Given the description of an element on the screen output the (x, y) to click on. 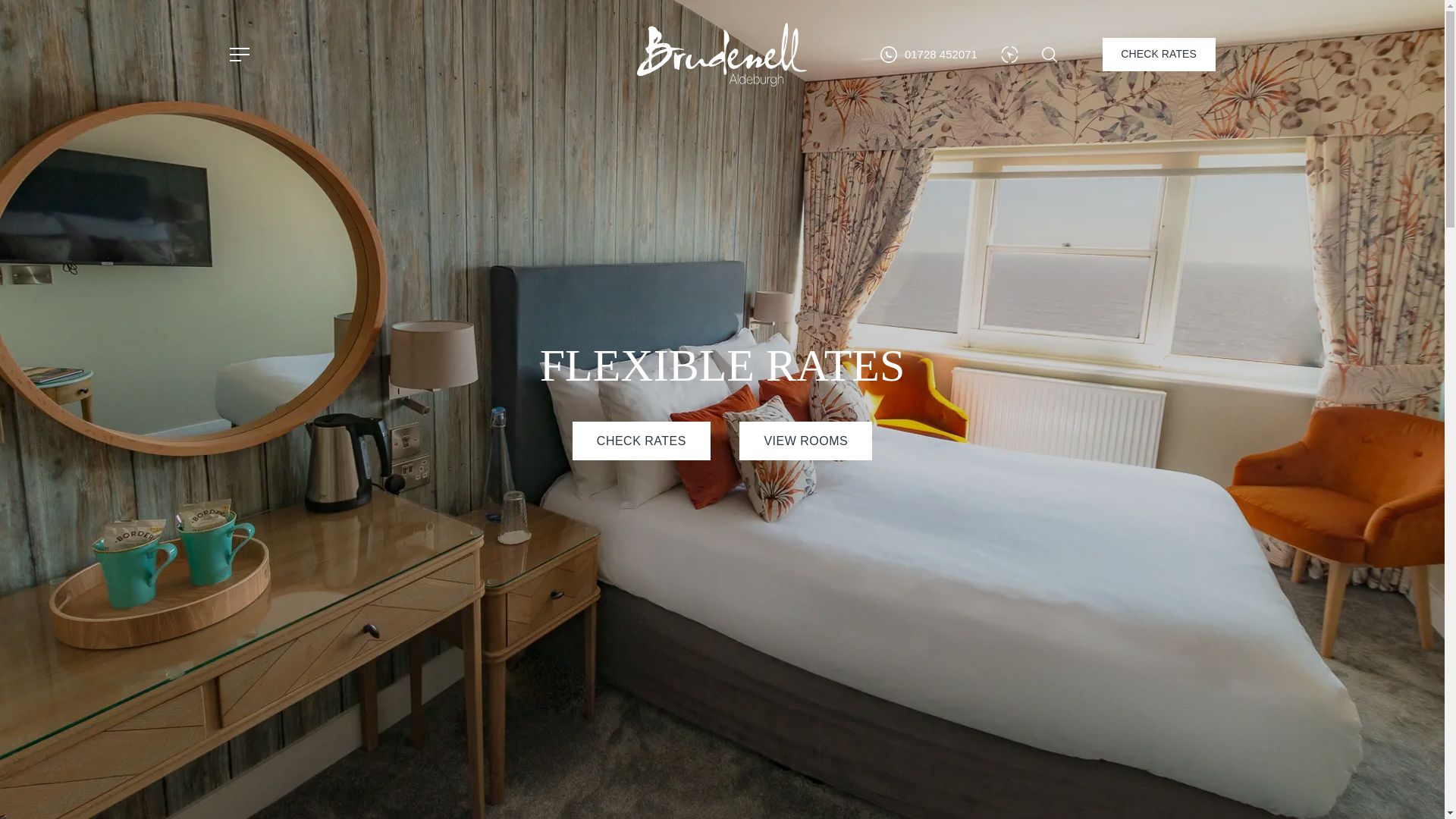
VIEW ROOMS (805, 440)
CHECK RATES (641, 440)
01728 452071 (928, 54)
CHECK RATES (1158, 53)
